Given the description of an element on the screen output the (x, y) to click on. 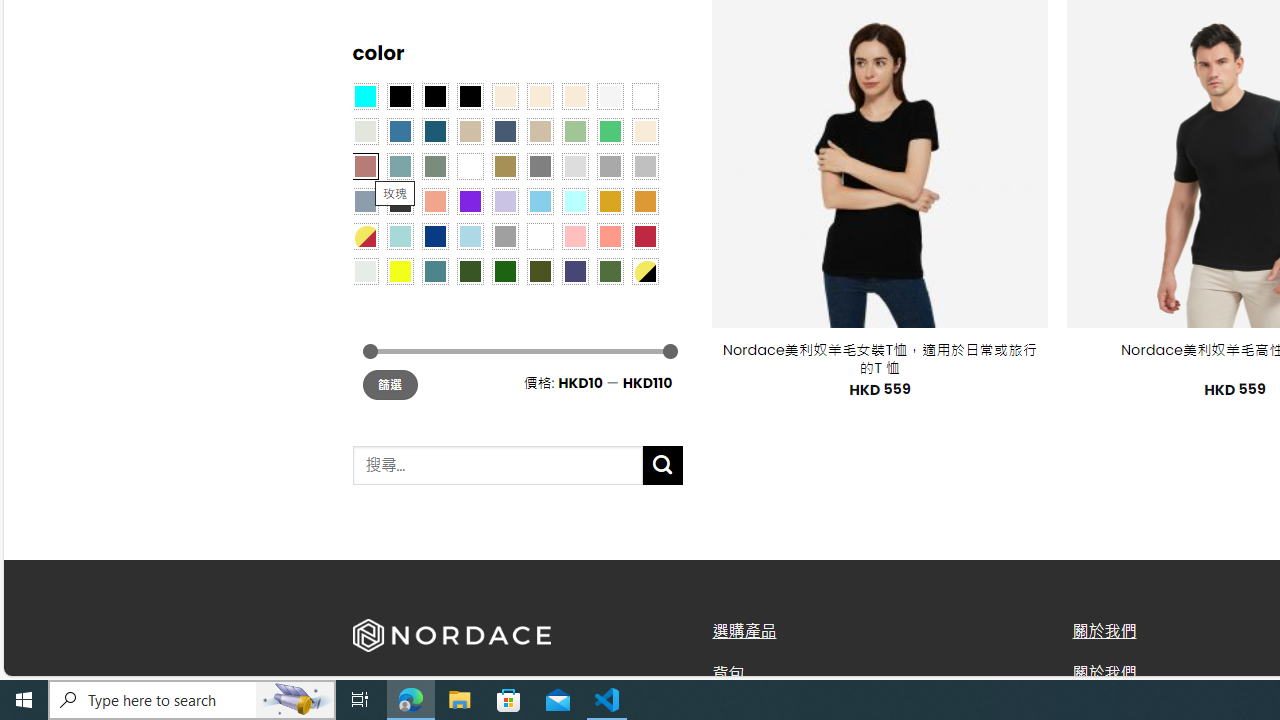
Dull Nickle (364, 270)
